Given the description of an element on the screen output the (x, y) to click on. 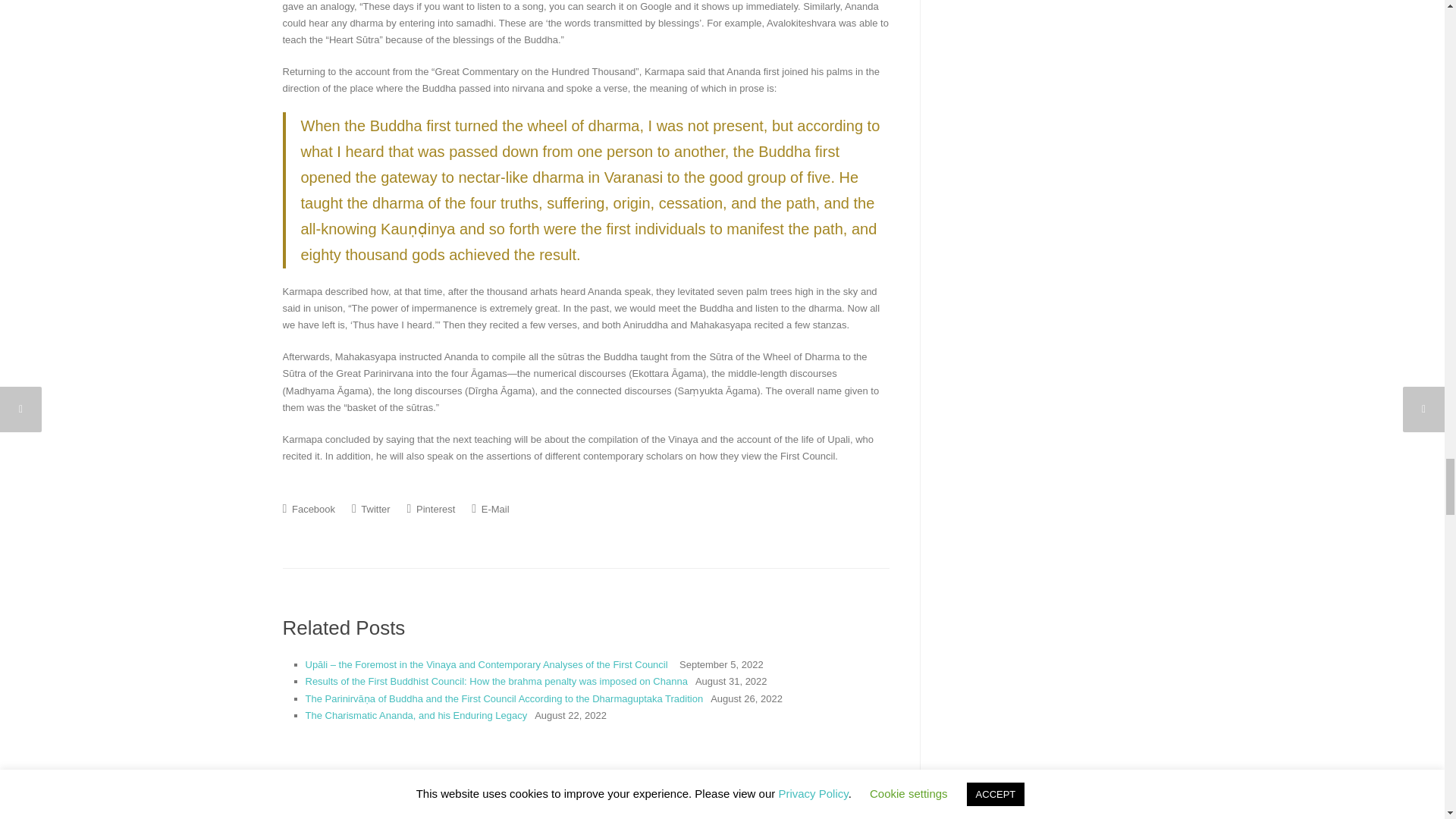
Link to The Charismatic Ananda, and his Enduring Legacy (415, 715)
